Given the description of an element on the screen output the (x, y) to click on. 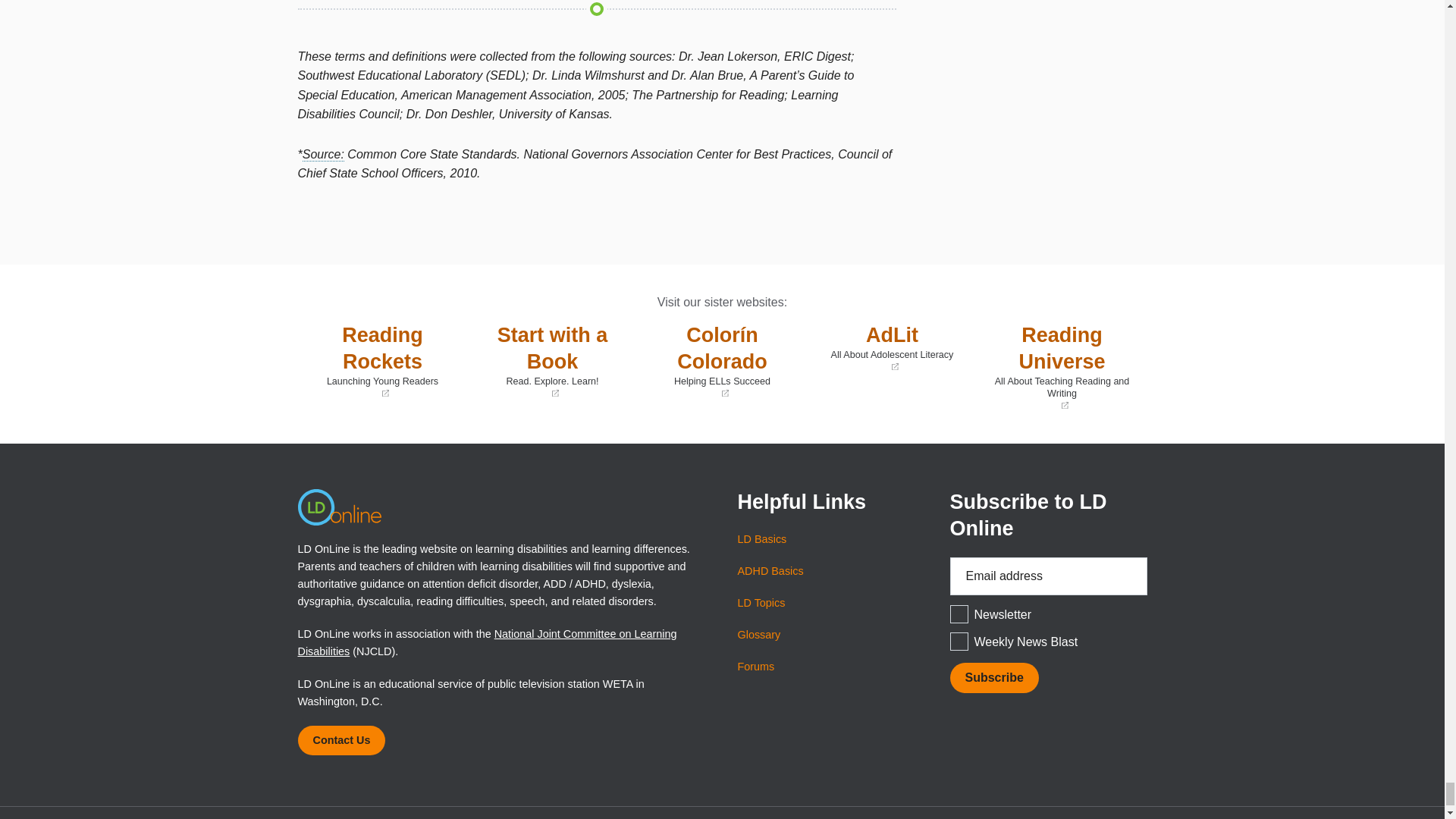
Subscribe (993, 677)
